Given the description of an element on the screen output the (x, y) to click on. 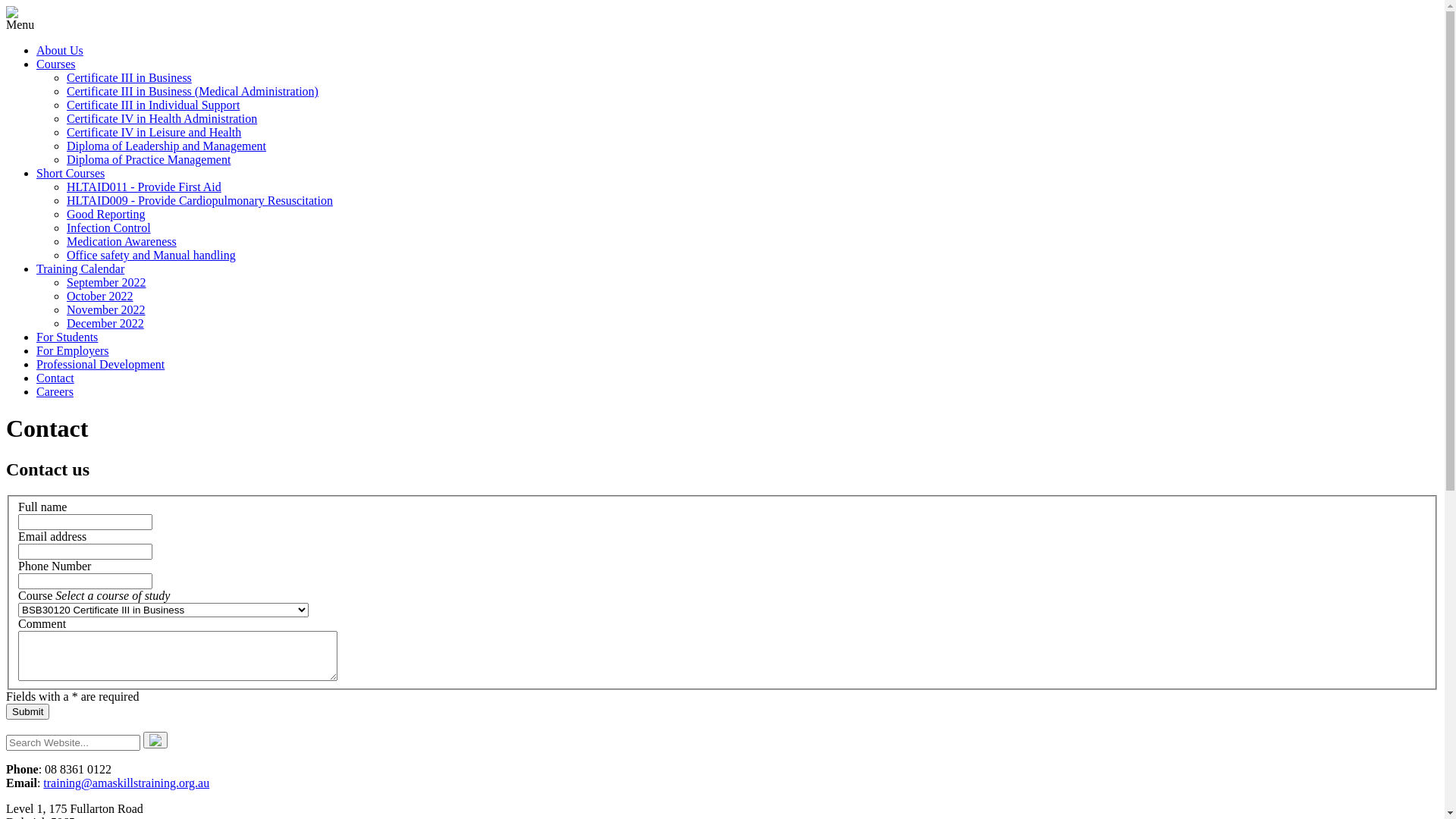
Professional Development Element type: text (100, 363)
November 2022 Element type: text (105, 309)
Certificate IV in Leisure and Health Element type: text (153, 131)
Training Calendar Element type: text (80, 268)
Medication Awareness Element type: text (121, 241)
About Us Element type: text (59, 49)
training@amaskillstraining.org.au Element type: text (126, 782)
Diploma of Practice Management Element type: text (148, 159)
For Students Element type: text (66, 336)
Diploma of Leadership and Management Element type: text (166, 145)
Contact Element type: text (55, 377)
Submit Element type: text (27, 711)
December 2022 Element type: text (105, 322)
Certificate III in Individual Support Element type: text (152, 104)
HLTAID011 - Provide First Aid Element type: text (143, 186)
October 2022 Element type: text (99, 295)
Careers Element type: text (54, 391)
Office safety and Manual handling Element type: text (150, 254)
Infection Control Element type: text (108, 227)
September 2022 Element type: text (105, 282)
Courses Element type: text (55, 63)
Good Reporting Element type: text (105, 213)
For Employers Element type: text (72, 350)
Certificate III in Business Element type: text (128, 77)
Short Courses Element type: text (70, 172)
Certificate III in Business (Medical Administration) Element type: text (192, 90)
HLTAID009 - Provide Cardiopulmonary Resuscitation Element type: text (199, 200)
Certificate IV in Health Administration Element type: text (161, 118)
